Given the description of an element on the screen output the (x, y) to click on. 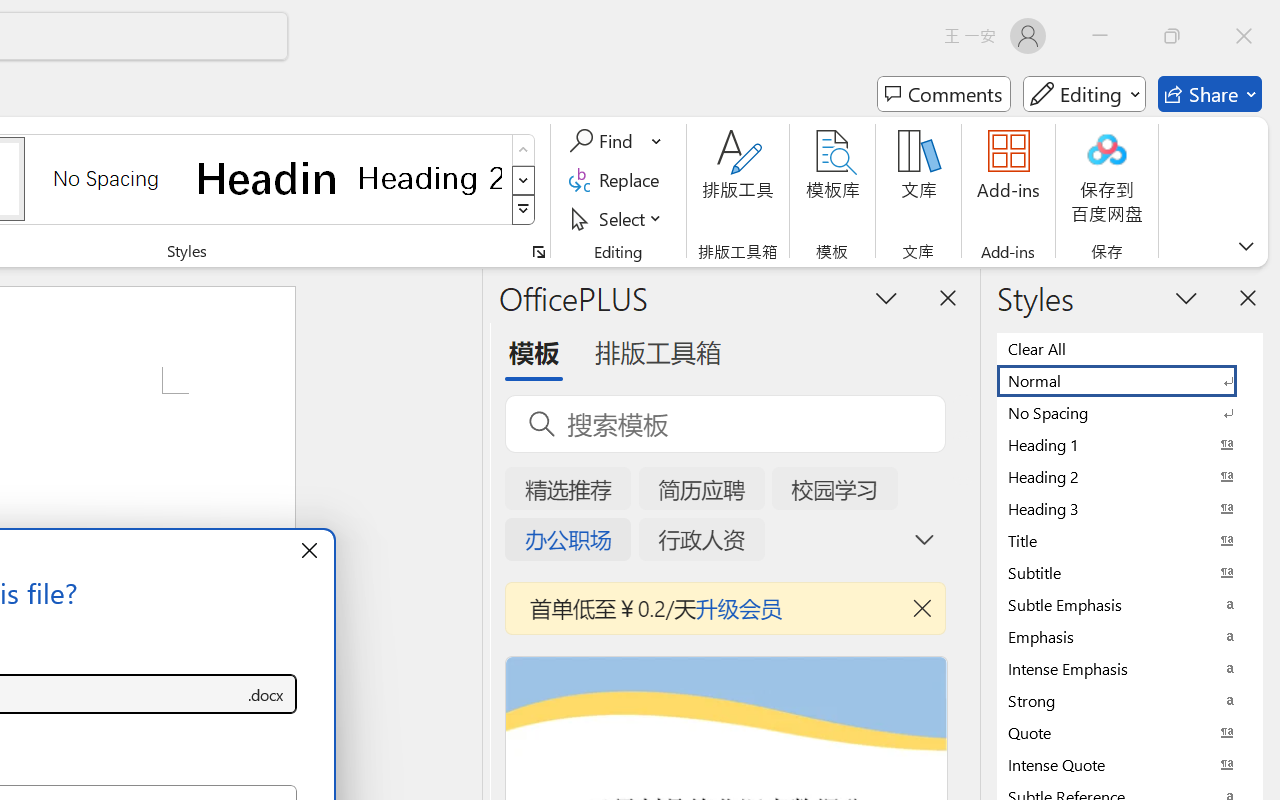
More Options (657, 141)
Comments (943, 94)
